Given the description of an element on the screen output the (x, y) to click on. 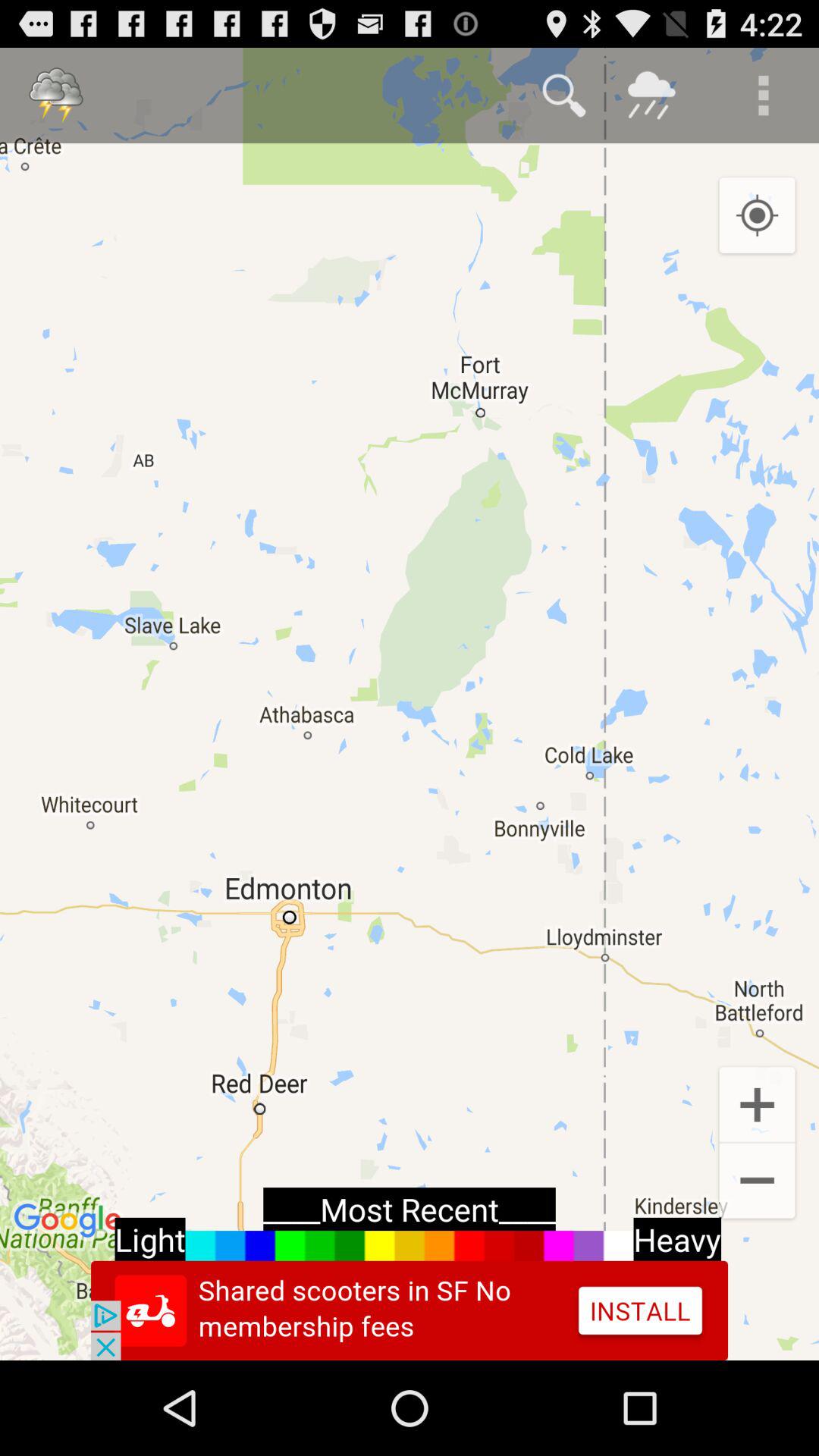
begin search button (564, 95)
